Given the description of an element on the screen output the (x, y) to click on. 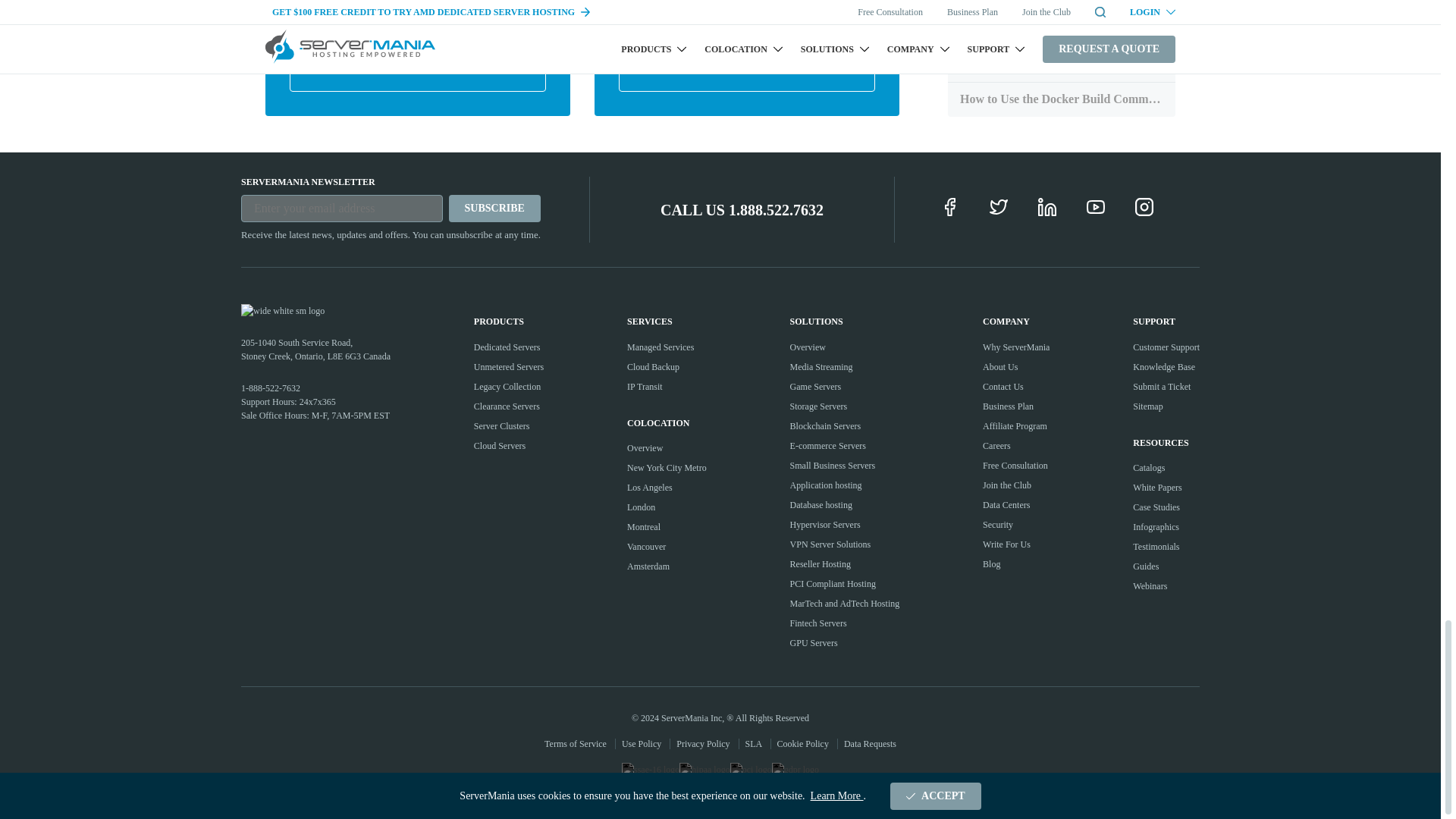
Subscribe (494, 207)
